Given the description of an element on the screen output the (x, y) to click on. 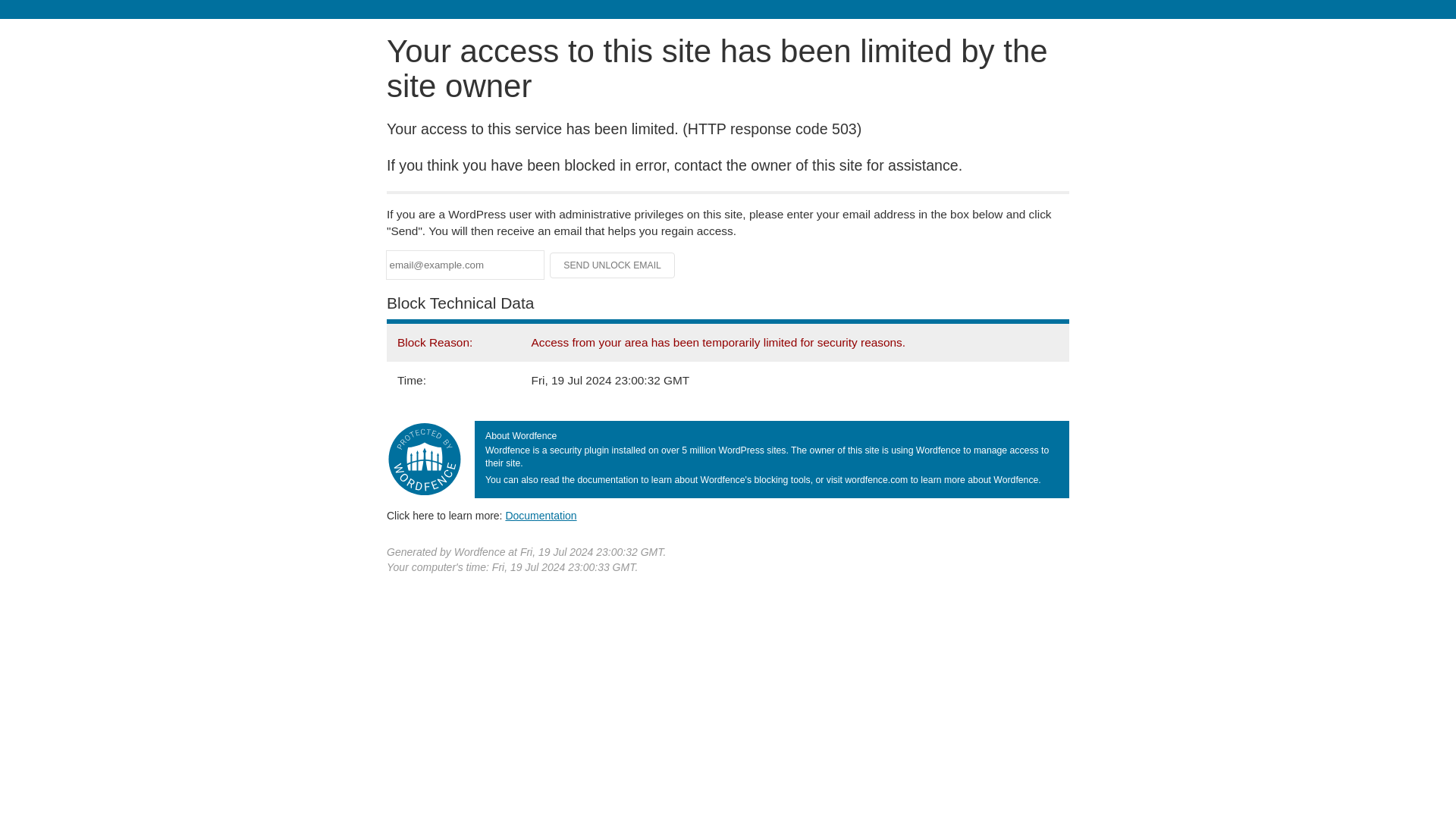
Send Unlock Email (612, 265)
Documentation (540, 515)
Send Unlock Email (612, 265)
